Given the description of an element on the screen output the (x, y) to click on. 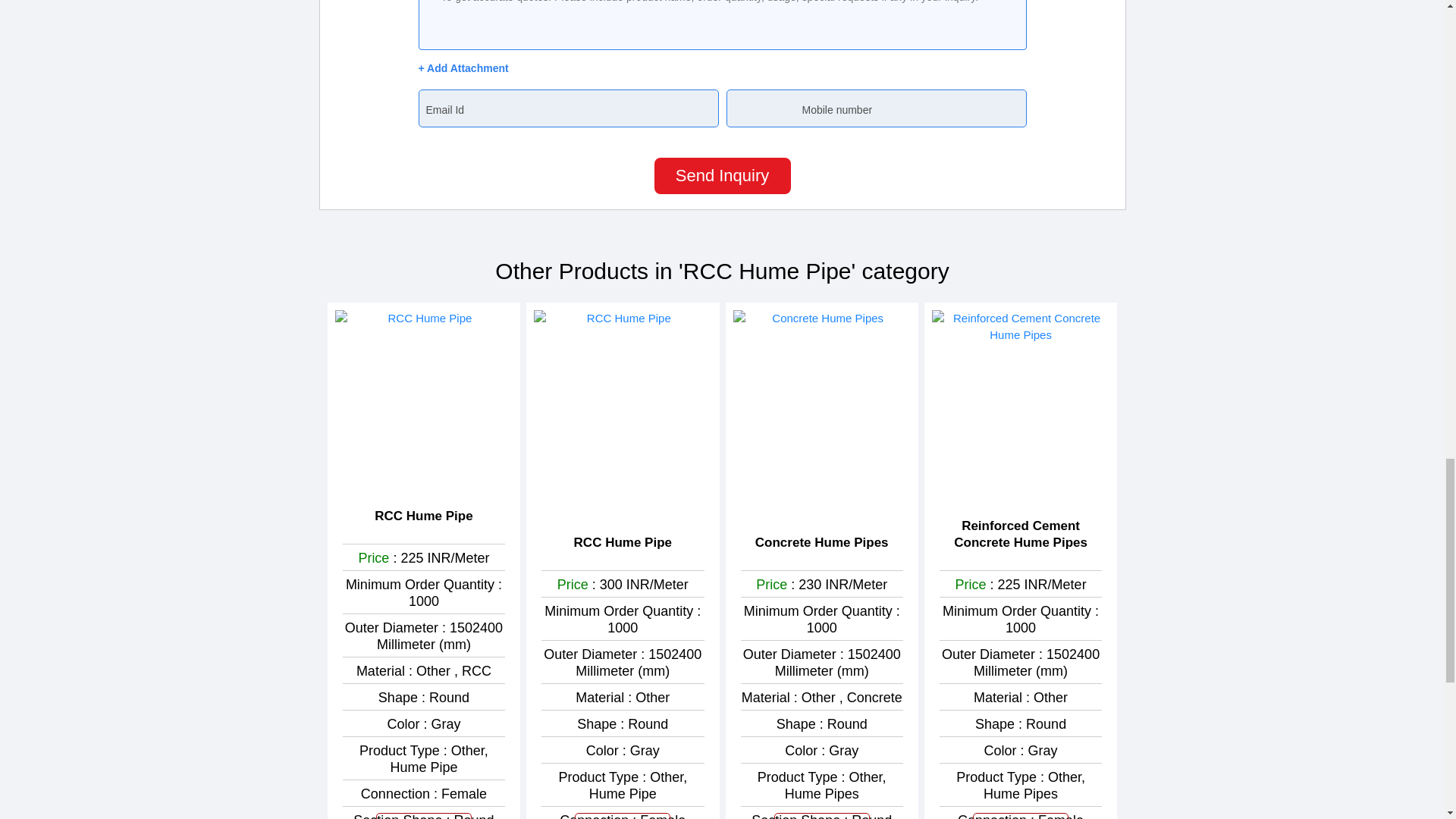
Send Inquiry (821, 816)
Reinforced Cement Concrete Hume Pipes (1020, 534)
Send Inquiry (622, 816)
Concrete Hume Pipes (821, 542)
RCC Hume Pipe (622, 542)
RCC Hume Pipe (422, 515)
Send Inquiry (1020, 816)
Send Inquiry (721, 176)
Send Inquiry (423, 816)
